Given the description of an element on the screen output the (x, y) to click on. 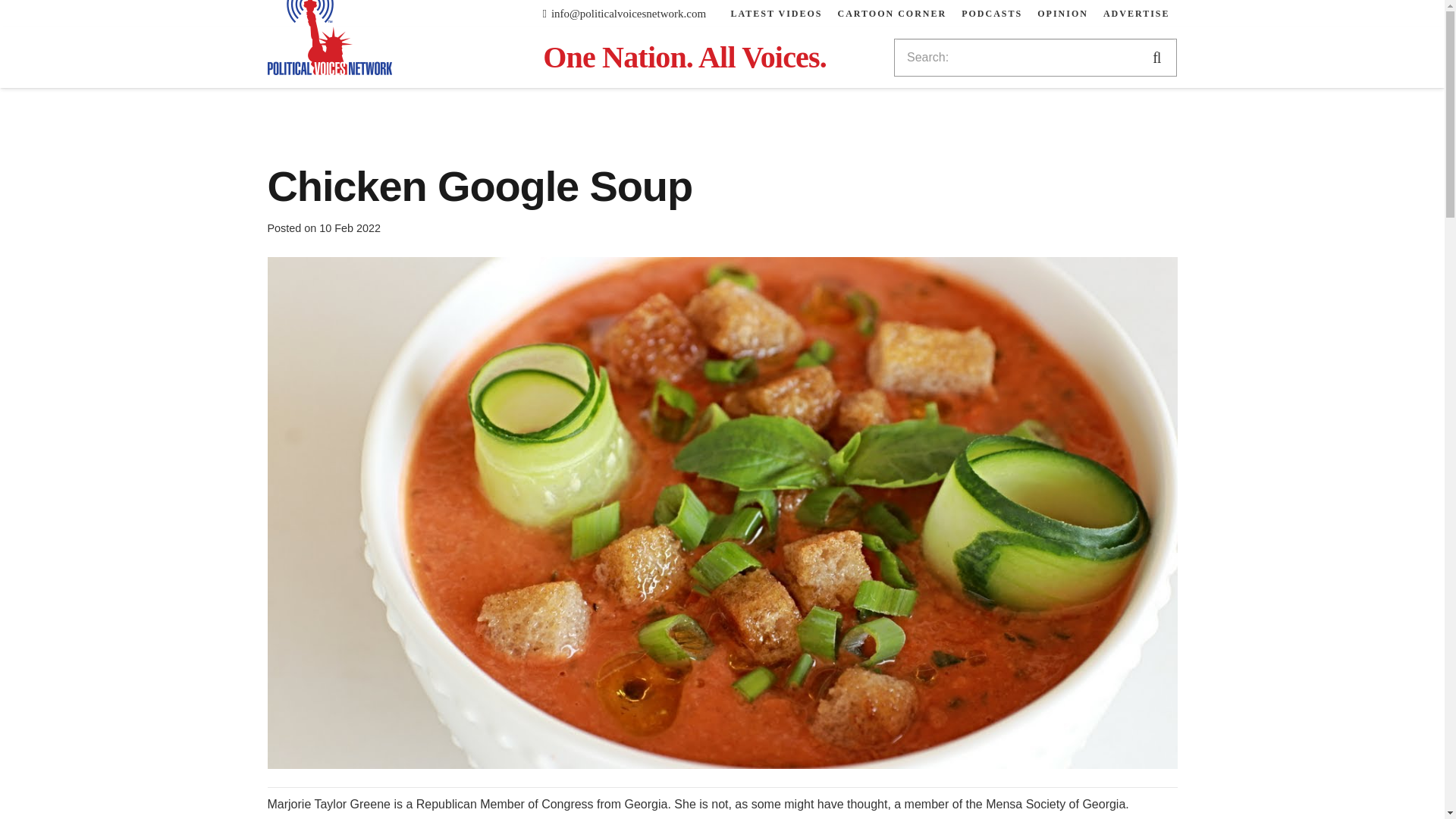
LATEST VIDEOS (775, 13)
ADVERTISE (1136, 13)
OPINION (1062, 13)
PODCASTS (991, 13)
CARTOON CORNER (891, 13)
